Given the description of an element on the screen output the (x, y) to click on. 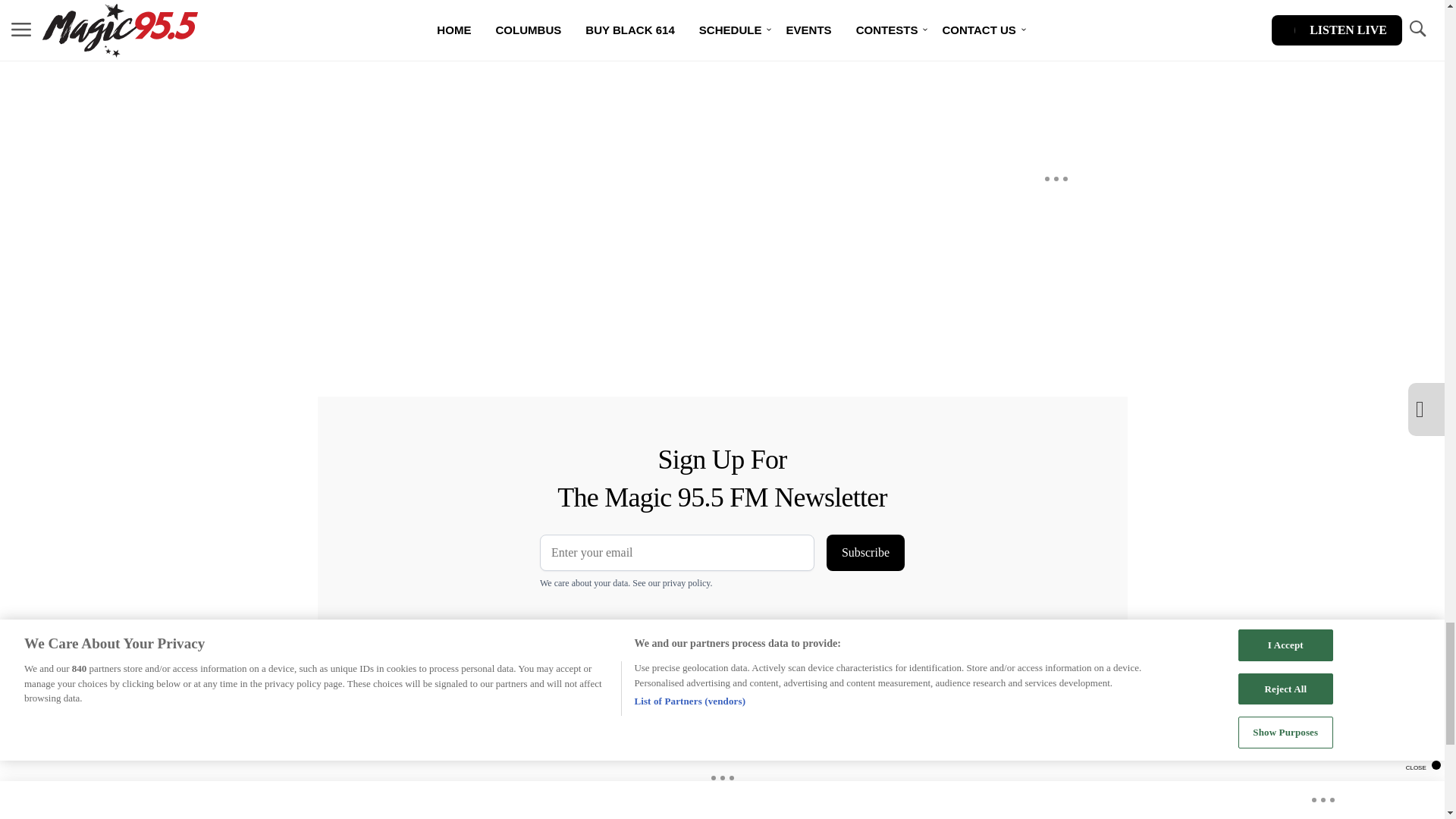
Vuukle Comments Widget (585, 36)
